Given the description of an element on the screen output the (x, y) to click on. 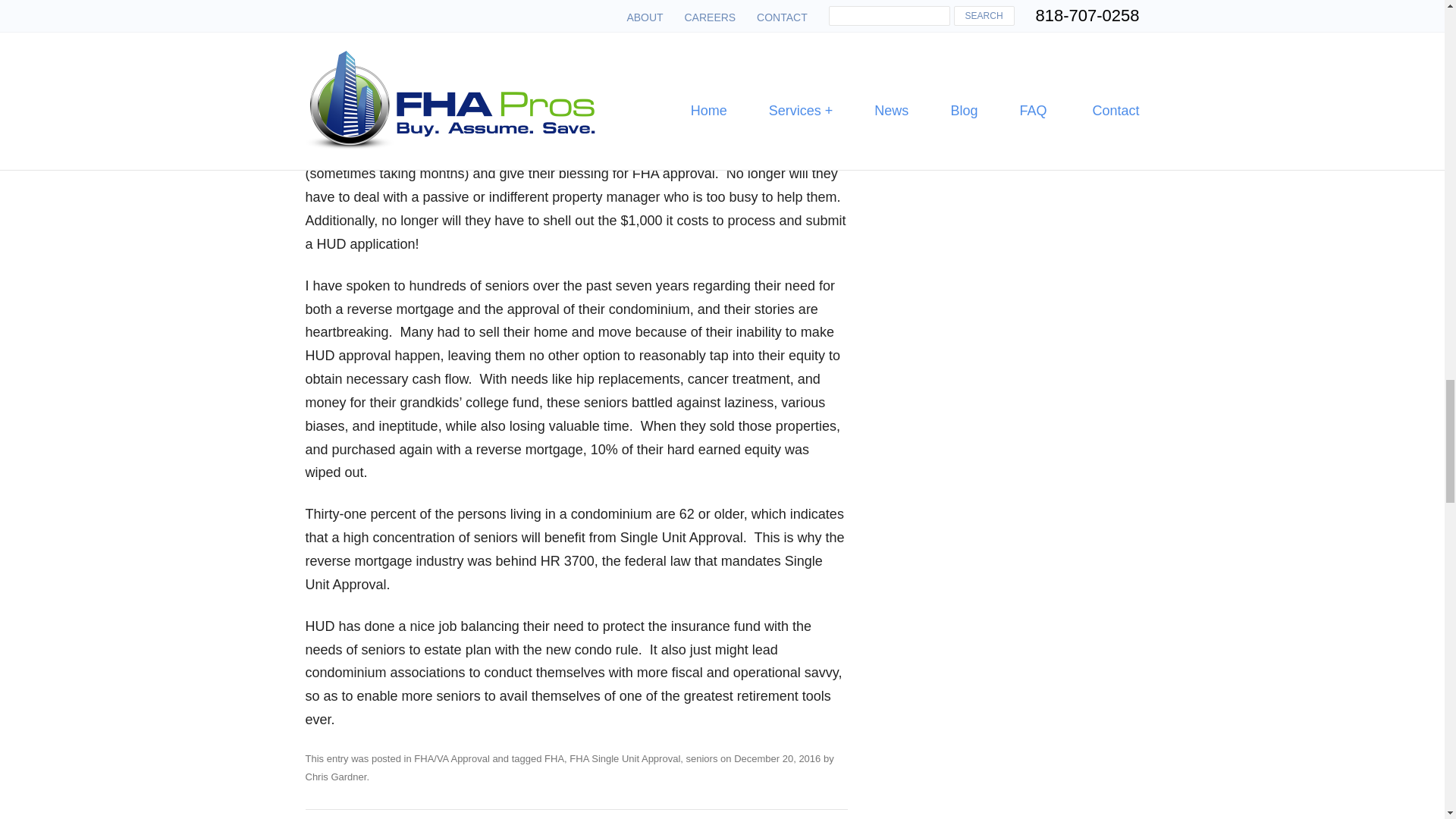
2:33 am (777, 758)
View all posts by Chris Gardner (335, 776)
